Given the description of an element on the screen output the (x, y) to click on. 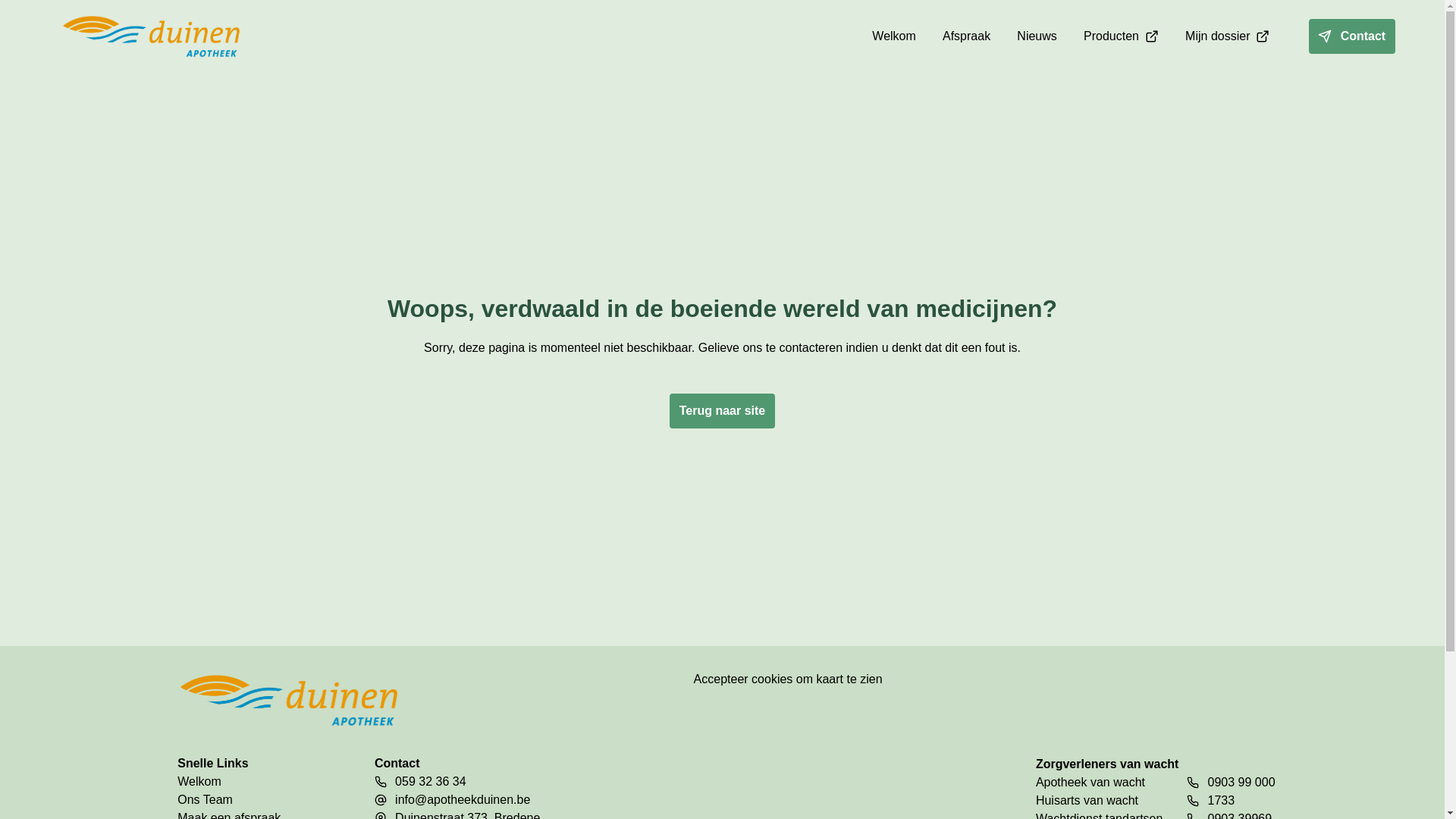
Welkom Element type: text (251, 781)
Contact Element type: text (1339, 35)
Mijn dossier Element type: text (1227, 35)
Terug naar site Element type: text (722, 410)
Nieuws Element type: text (1036, 35)
info@apotheekduinen.be Element type: text (462, 799)
Terug naar site Element type: text (722, 398)
Apotheek van wacht Element type: text (1099, 782)
Ons Team Element type: text (251, 799)
Afspraak Element type: text (966, 35)
Contact Element type: text (1351, 35)
Huisarts van wacht Element type: text (1099, 800)
Welkom Element type: text (893, 35)
Producten Element type: text (1120, 35)
